Given the description of an element on the screen output the (x, y) to click on. 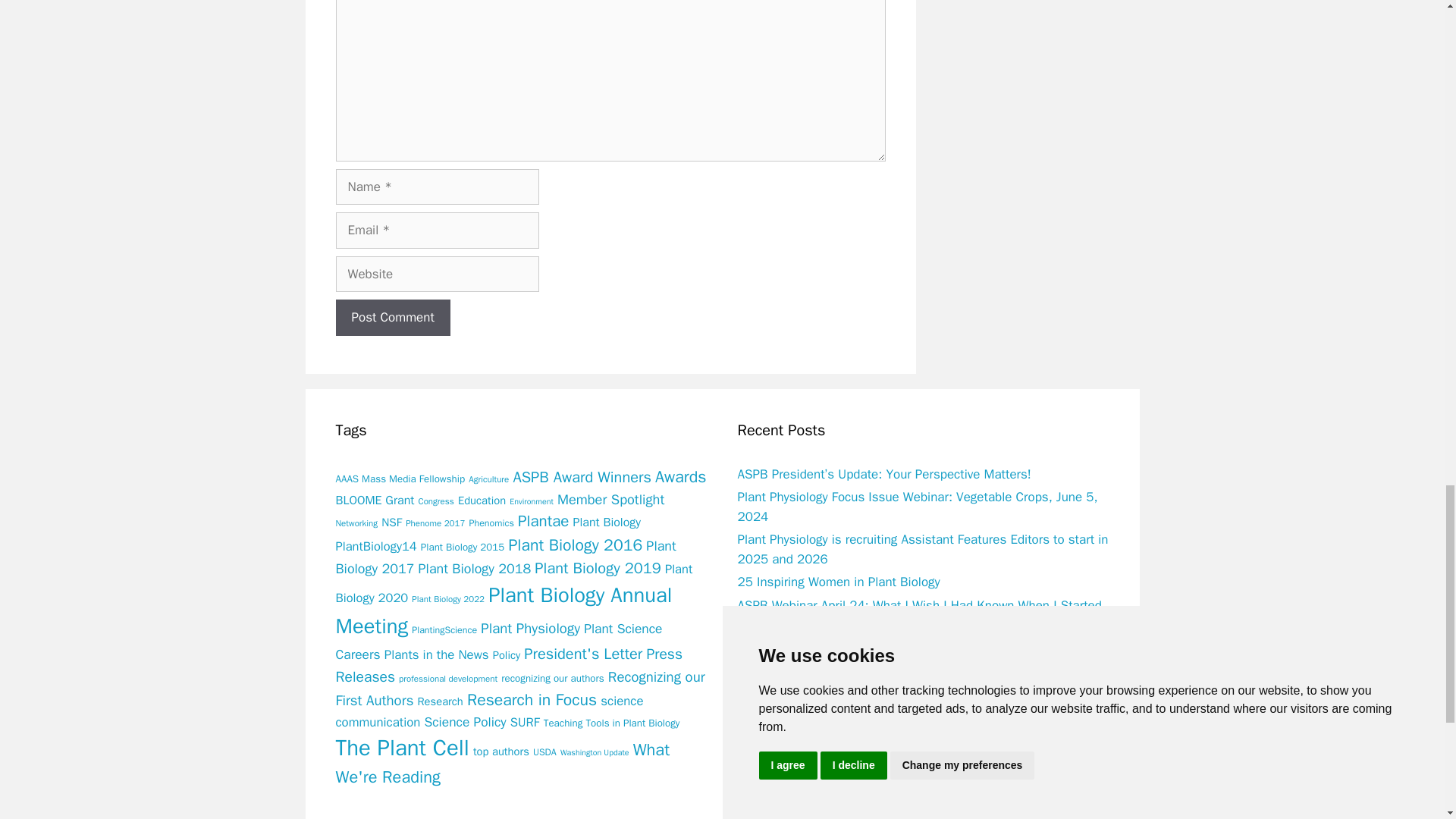
Post Comment (391, 317)
Agriculture (488, 479)
AAAS Mass Media Fellowship (399, 478)
Post Comment (391, 317)
